Given the description of an element on the screen output the (x, y) to click on. 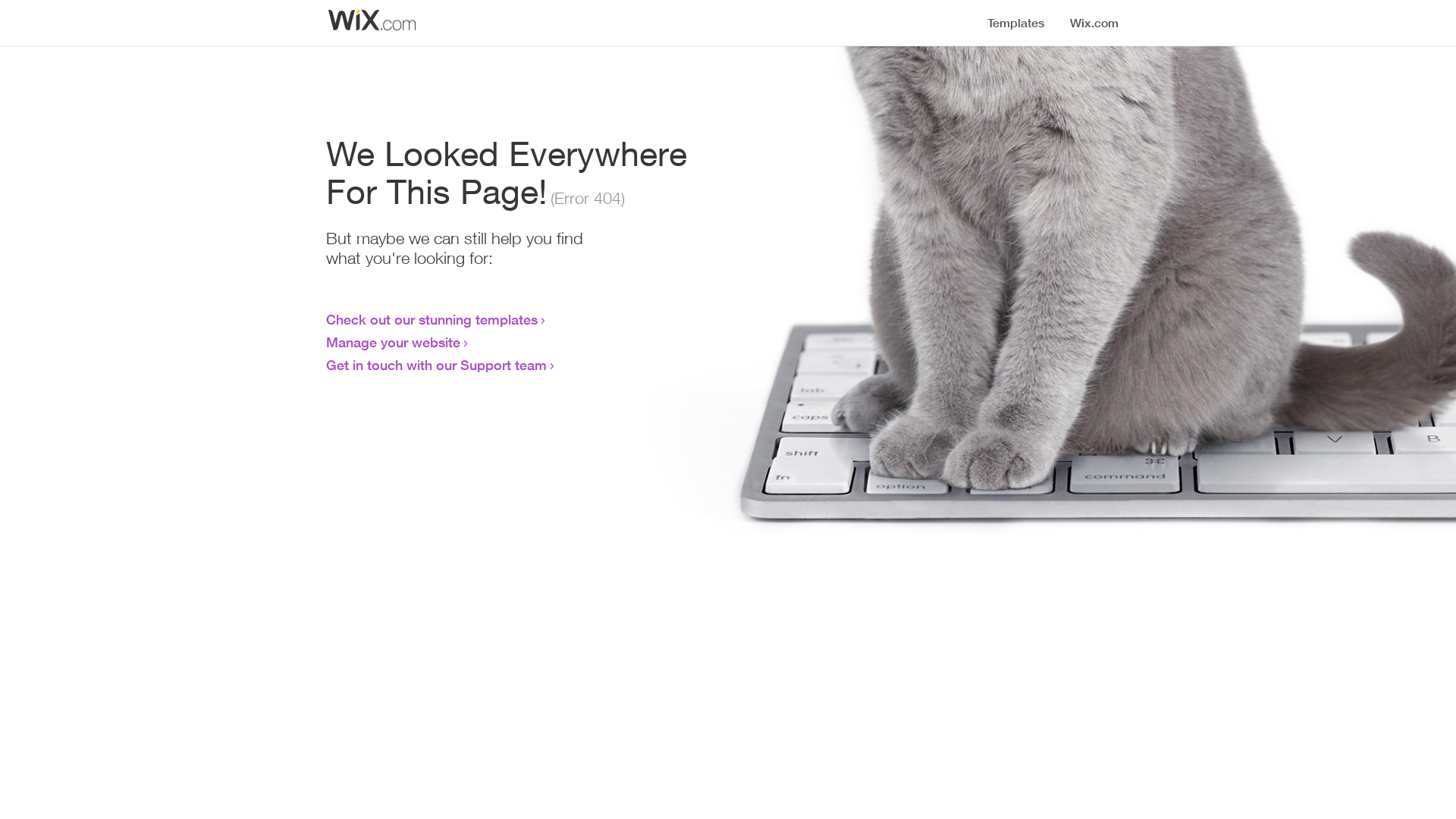
Manage your website Element type: text (393, 341)
Get in touch with our Support team Element type: text (436, 364)
Check out our stunning templates Element type: text (431, 318)
